Given the description of an element on the screen output the (x, y) to click on. 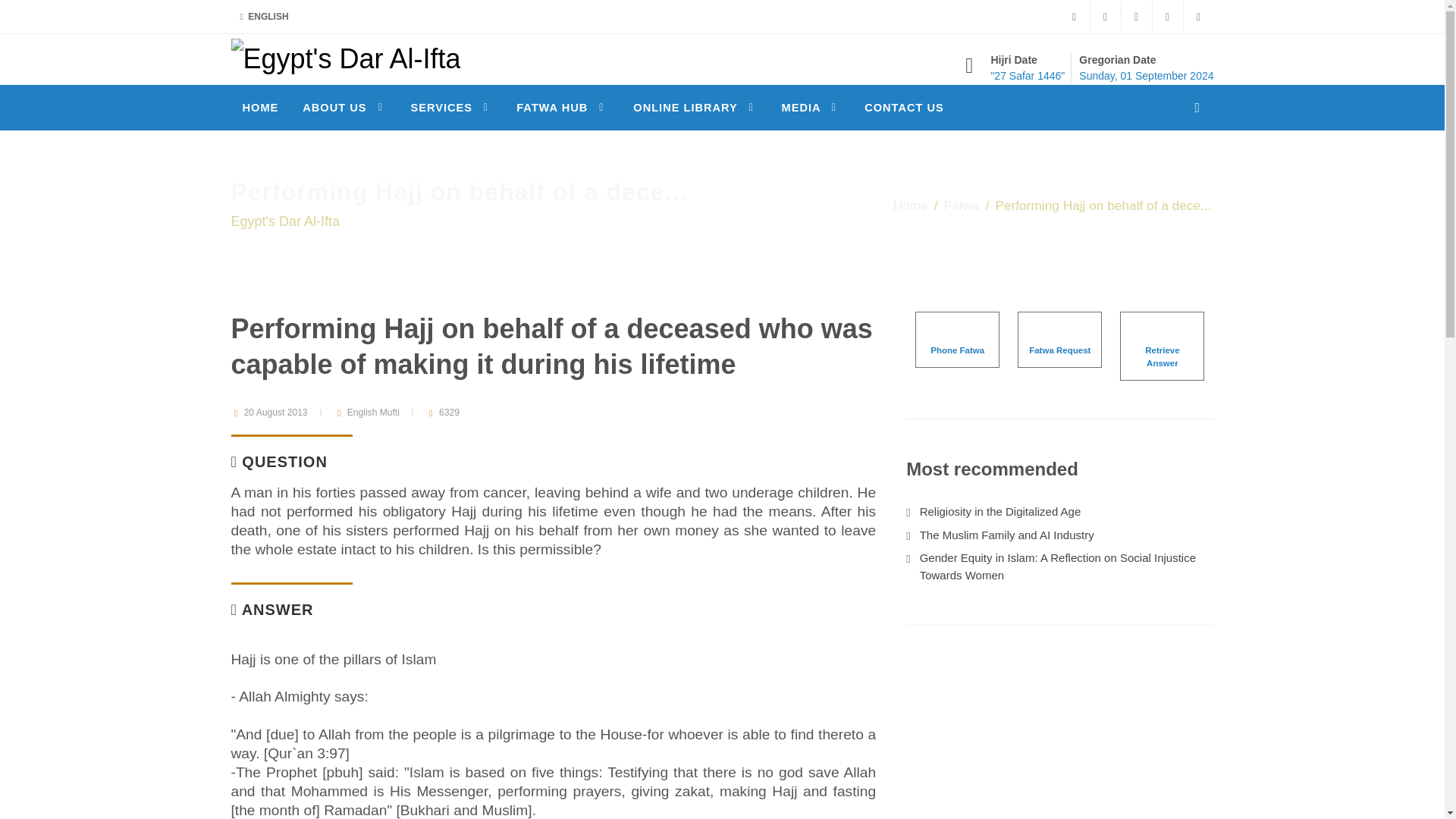
ONLINE LIBRARY (694, 107)
SERVICES (450, 107)
ENGLISH (263, 16)
Egypt's Dar Al-Ifta (345, 58)
Online Library (694, 107)
About Us (344, 107)
Fatwa Hub (561, 107)
Services (450, 107)
Home (259, 107)
HOME (259, 107)
